Given the description of an element on the screen output the (x, y) to click on. 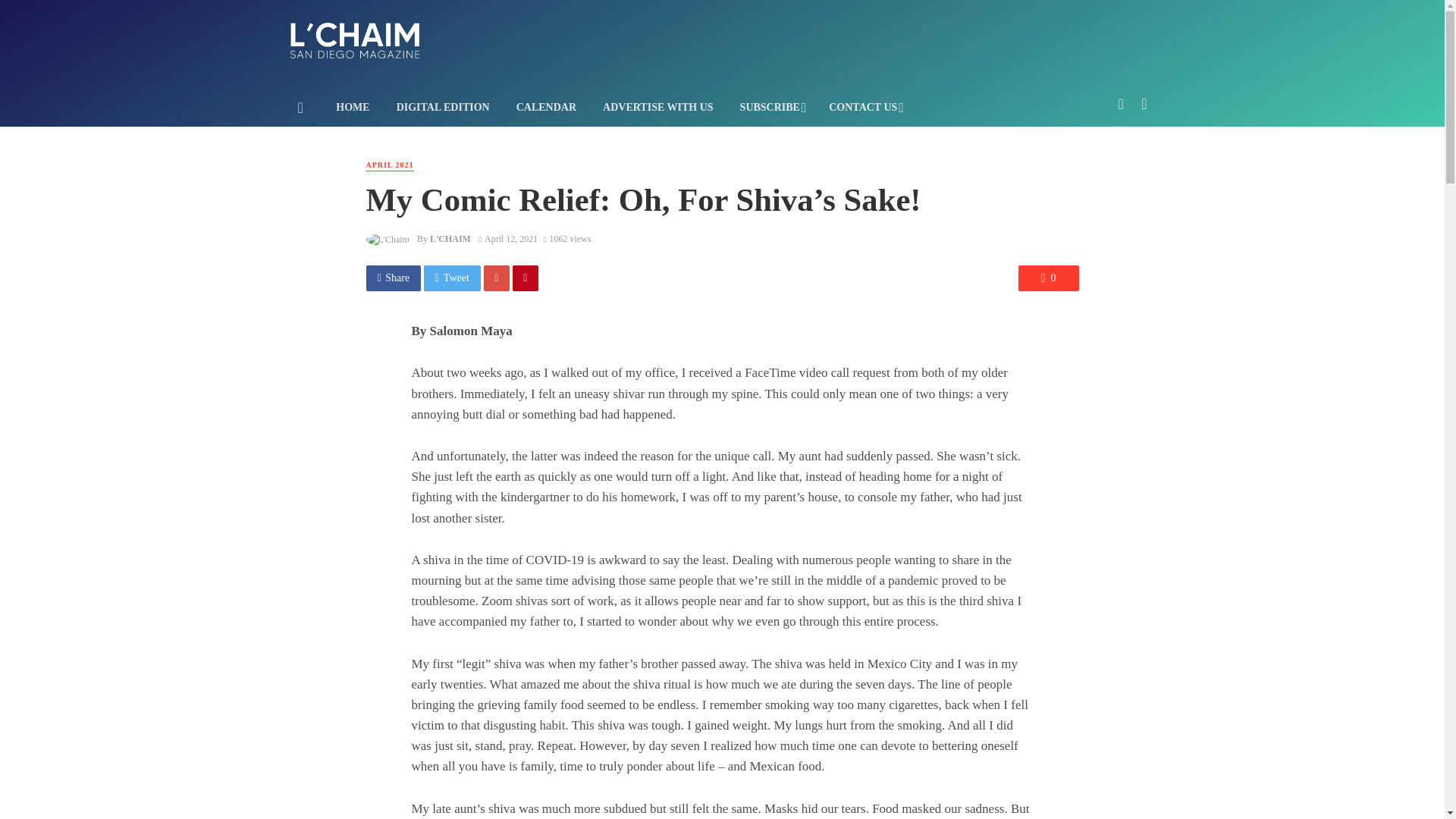
Posts by L'Chaim (449, 238)
CONTACT US (863, 107)
SUBSCRIBE (770, 107)
CALENDAR (545, 107)
Share (392, 278)
HOME (352, 107)
ADVERTISE WITH US (657, 107)
DIGITAL EDITION (442, 107)
L'CHAIM (449, 238)
0 (1047, 278)
Tweet (451, 278)
April 12, 2021 at 3:50 am (508, 238)
APRIL 2021 (389, 165)
